Given the description of an element on the screen output the (x, y) to click on. 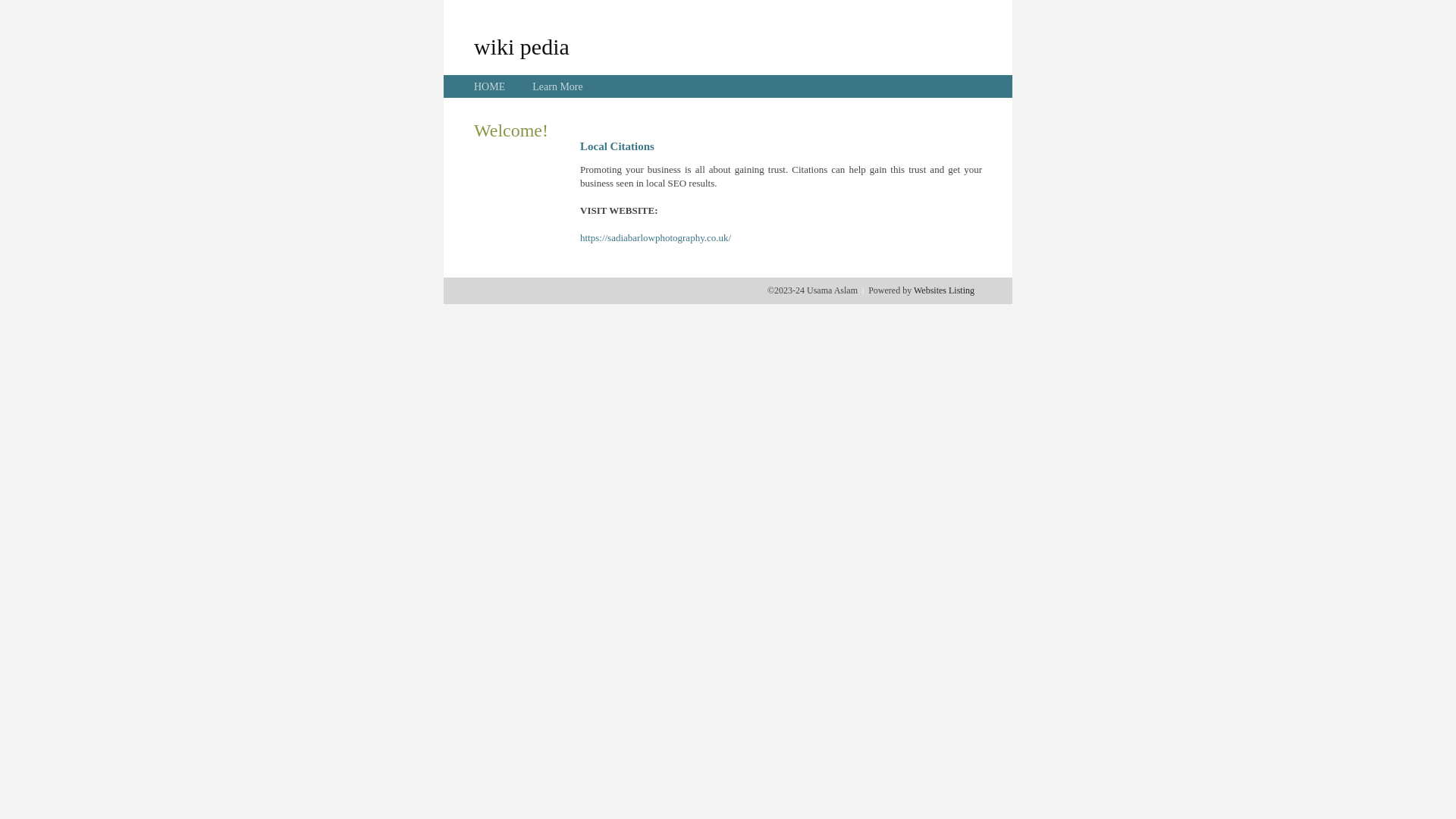
HOME Element type: text (489, 86)
wiki pedia Element type: text (521, 46)
Websites Listing Element type: text (943, 290)
Learn More Element type: text (557, 86)
https://sadiabarlowphotography.co.uk/ Element type: text (655, 237)
